Given the description of an element on the screen output the (x, y) to click on. 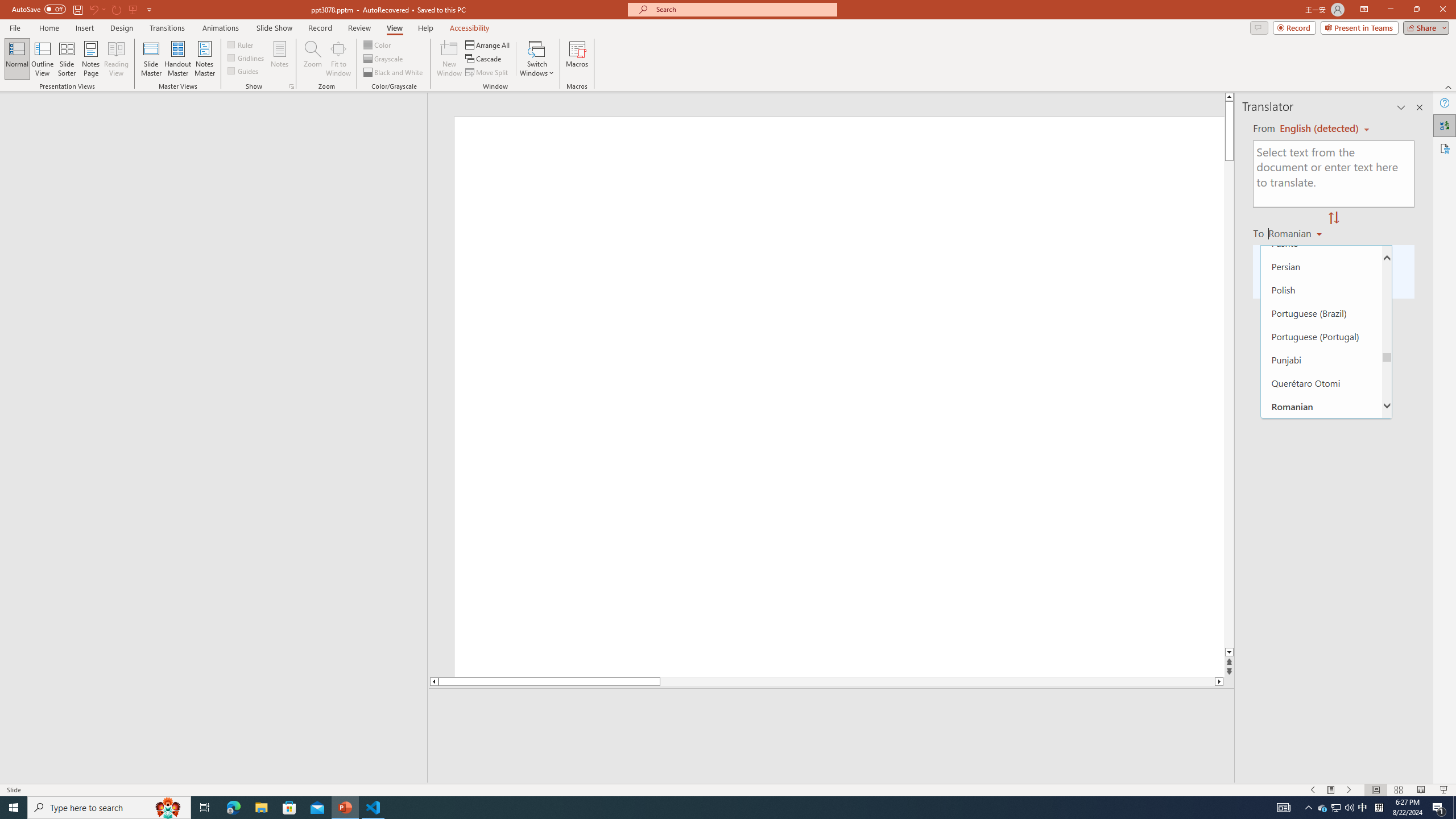
Zoom... (312, 58)
Samoan (1320, 475)
Slide Show Next On (1349, 790)
Sindhi (1320, 638)
Odia (1320, 219)
Persian (1320, 266)
